Given the description of an element on the screen output the (x, y) to click on. 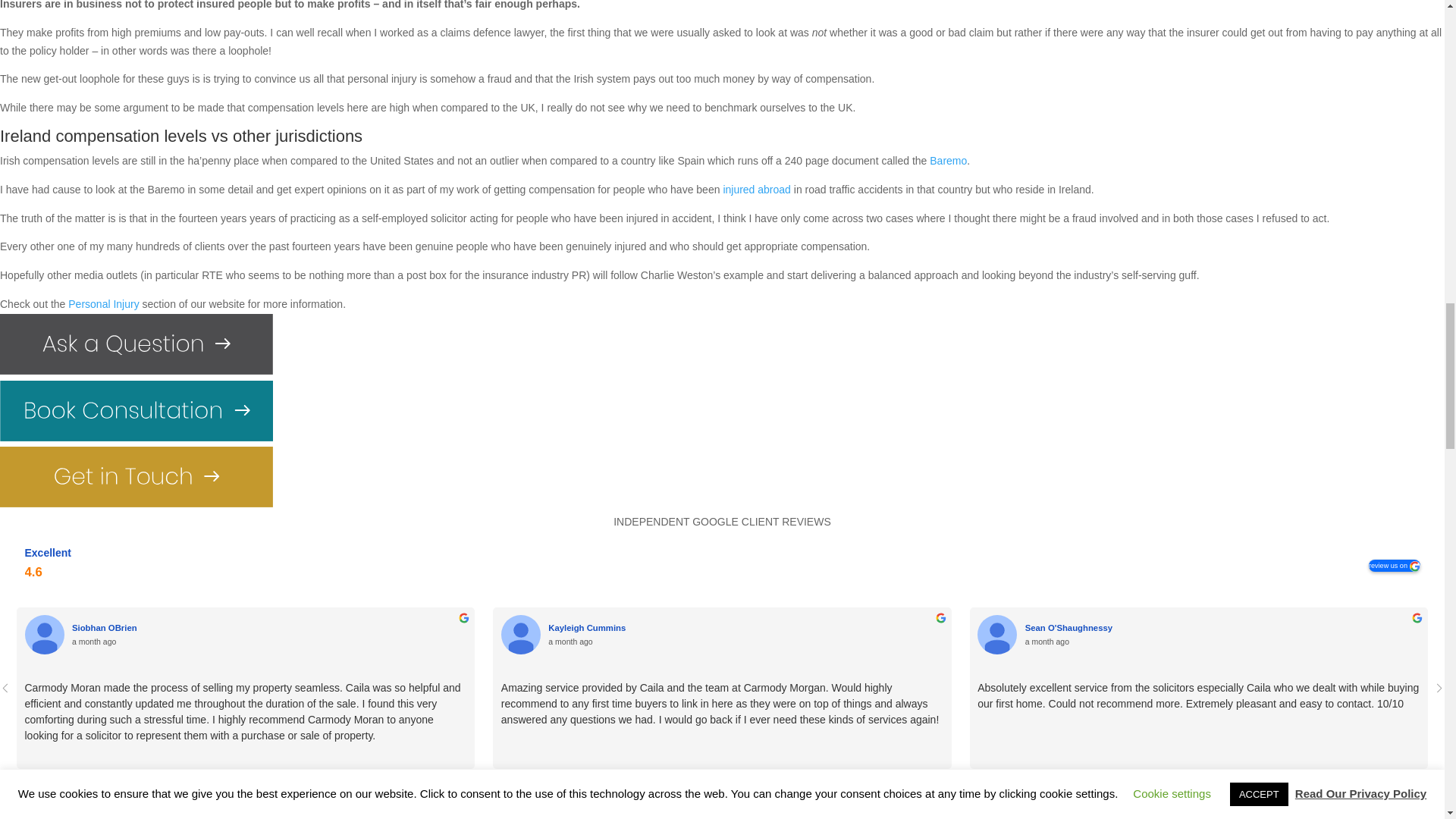
Personal Injury (103, 304)
Siobhan OBrien (269, 628)
5 (708, 790)
4 (695, 790)
0 (640, 789)
6 (722, 790)
Kayleigh Cummins (520, 634)
injured abroad (756, 189)
3 (681, 790)
Siobhan OBrien (44, 634)
Siobhan OBrien (103, 627)
Sean O'Shaughnessy (996, 634)
Sean O'Shaughnessy (1223, 628)
